Given the description of an element on the screen output the (x, y) to click on. 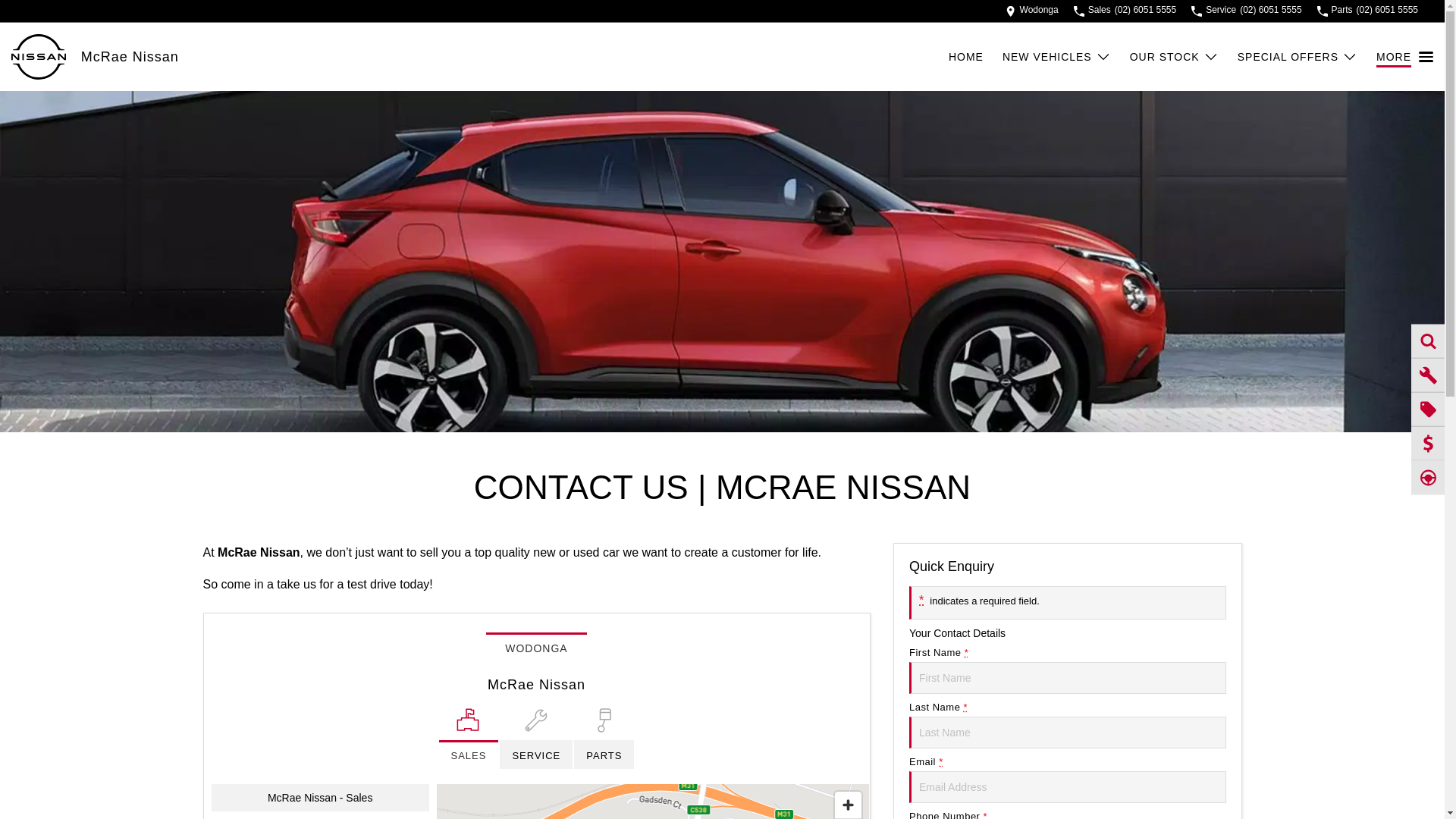
PARTS Element type: text (603, 738)
SALES Element type: text (468, 738)
Sales
(02) 6051 5555 Element type: text (1124, 10)
MORE Element type: text (1404, 56)
Wodonga Element type: text (1031, 10)
Parts
(02) 6051 5555 Element type: text (1367, 10)
SERVICE Element type: text (535, 738)
OUR STOCK Element type: text (1173, 56)
SPECIAL OFFERS Element type: text (1297, 56)
Zoom in Element type: hover (847, 804)
NEW VEHICLES Element type: text (1056, 56)
WODONGA Element type: text (536, 647)
Service
(02) 6051 5555 Element type: text (1246, 10)
McRae Nissan Element type: text (129, 56)
HOME Element type: text (975, 56)
